Given the description of an element on the screen output the (x, y) to click on. 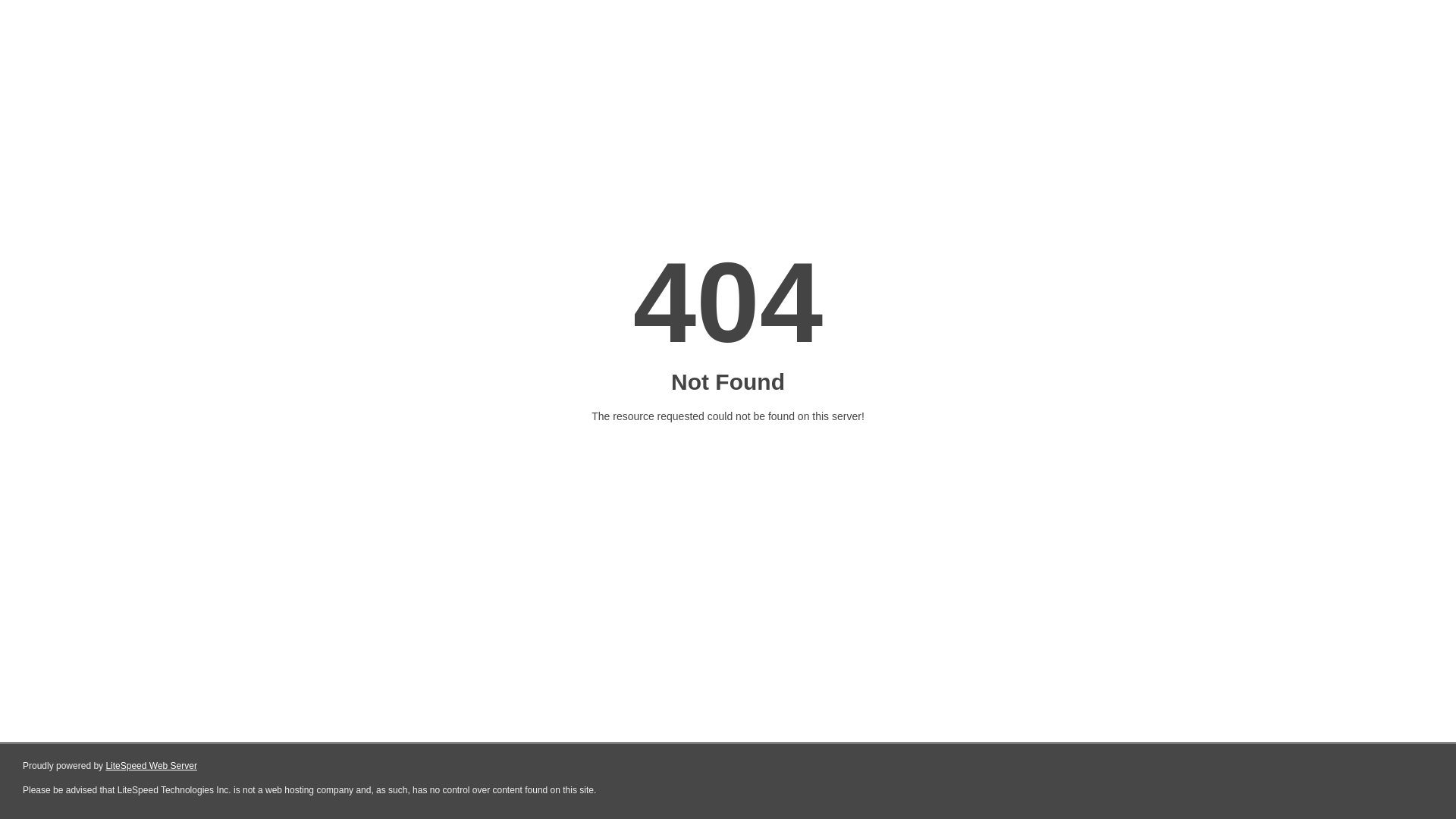
LiteSpeed Web Server Element type: text (151, 765)
